Given the description of an element on the screen output the (x, y) to click on. 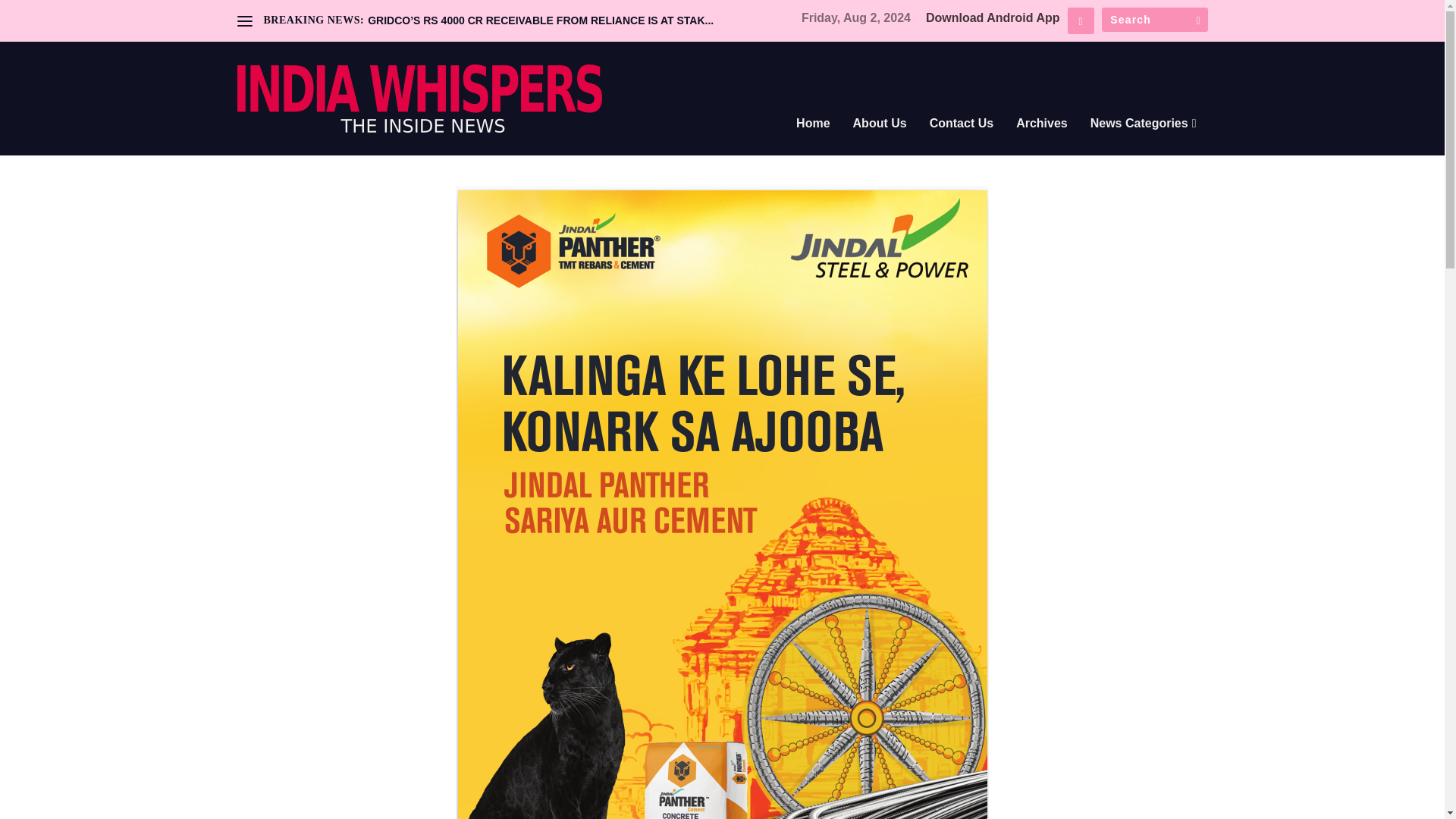
About Us (880, 143)
Contact Us (961, 143)
Search for: (1153, 19)
News Categories (1143, 143)
Archives (1041, 143)
Download Android App (992, 17)
